Given the description of an element on the screen output the (x, y) to click on. 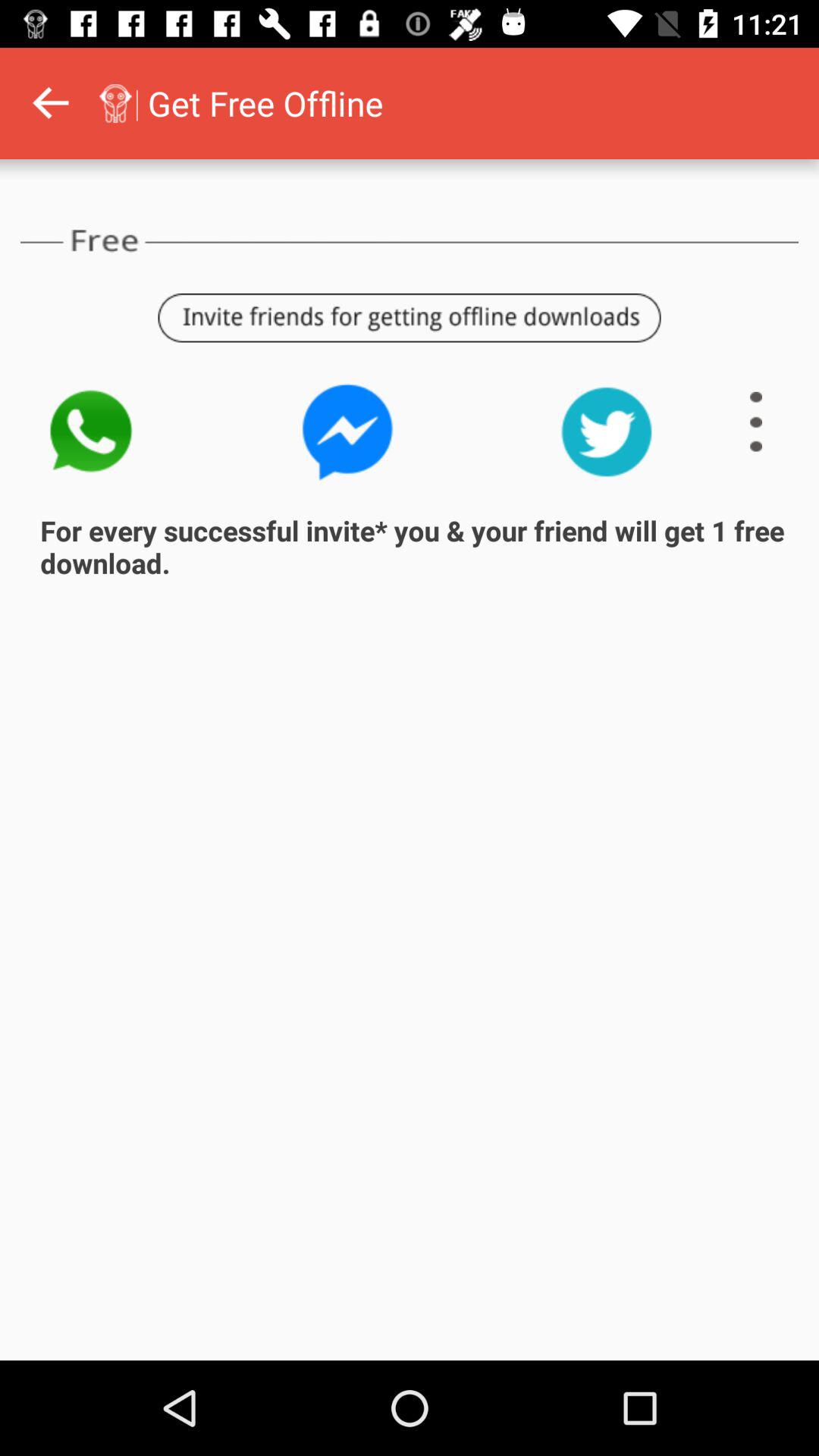
go to settings (756, 421)
